Given the description of an element on the screen output the (x, y) to click on. 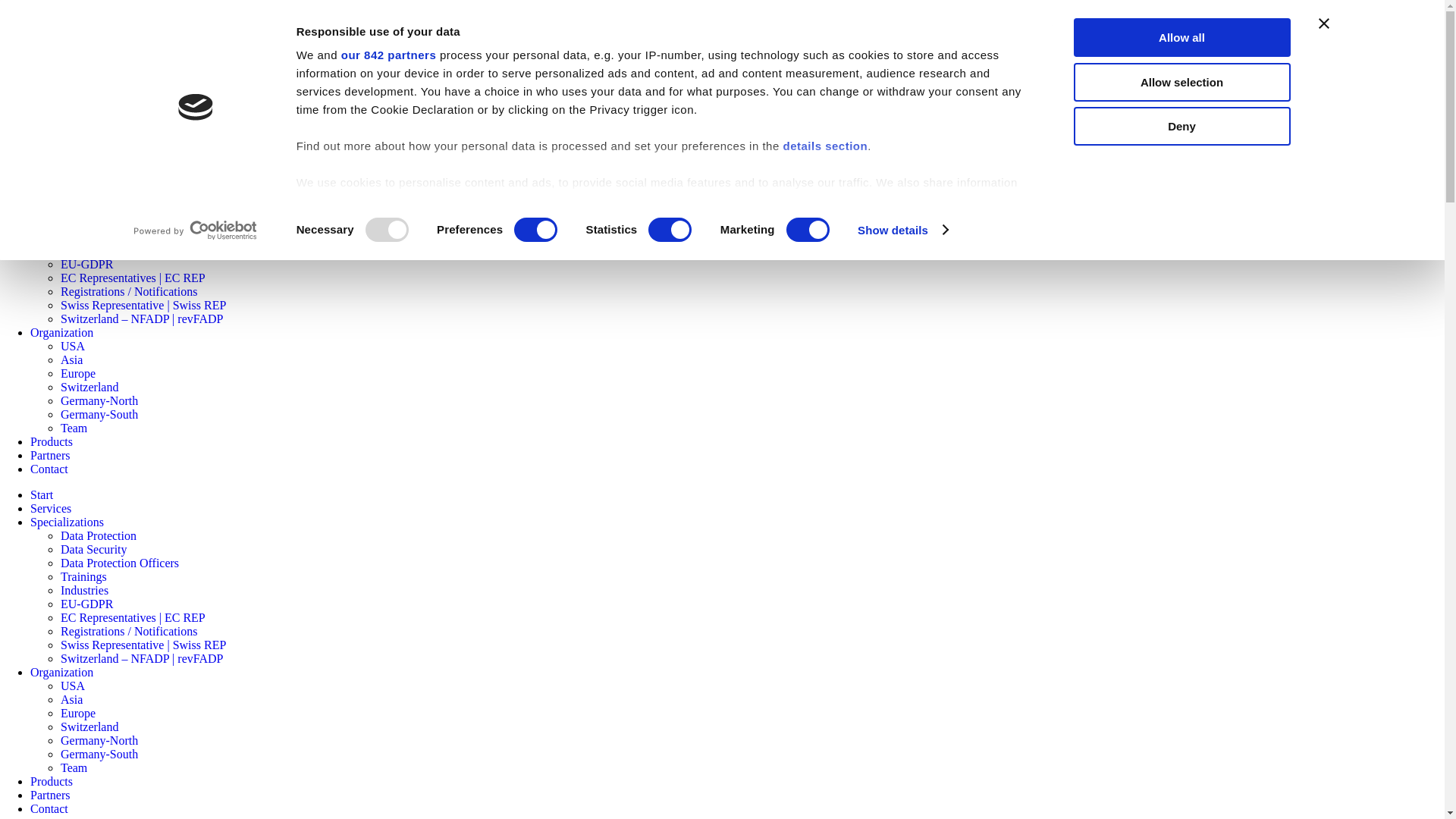
our 842 partners (388, 54)
Show details (902, 229)
details section (825, 145)
